Given the description of an element on the screen output the (x, y) to click on. 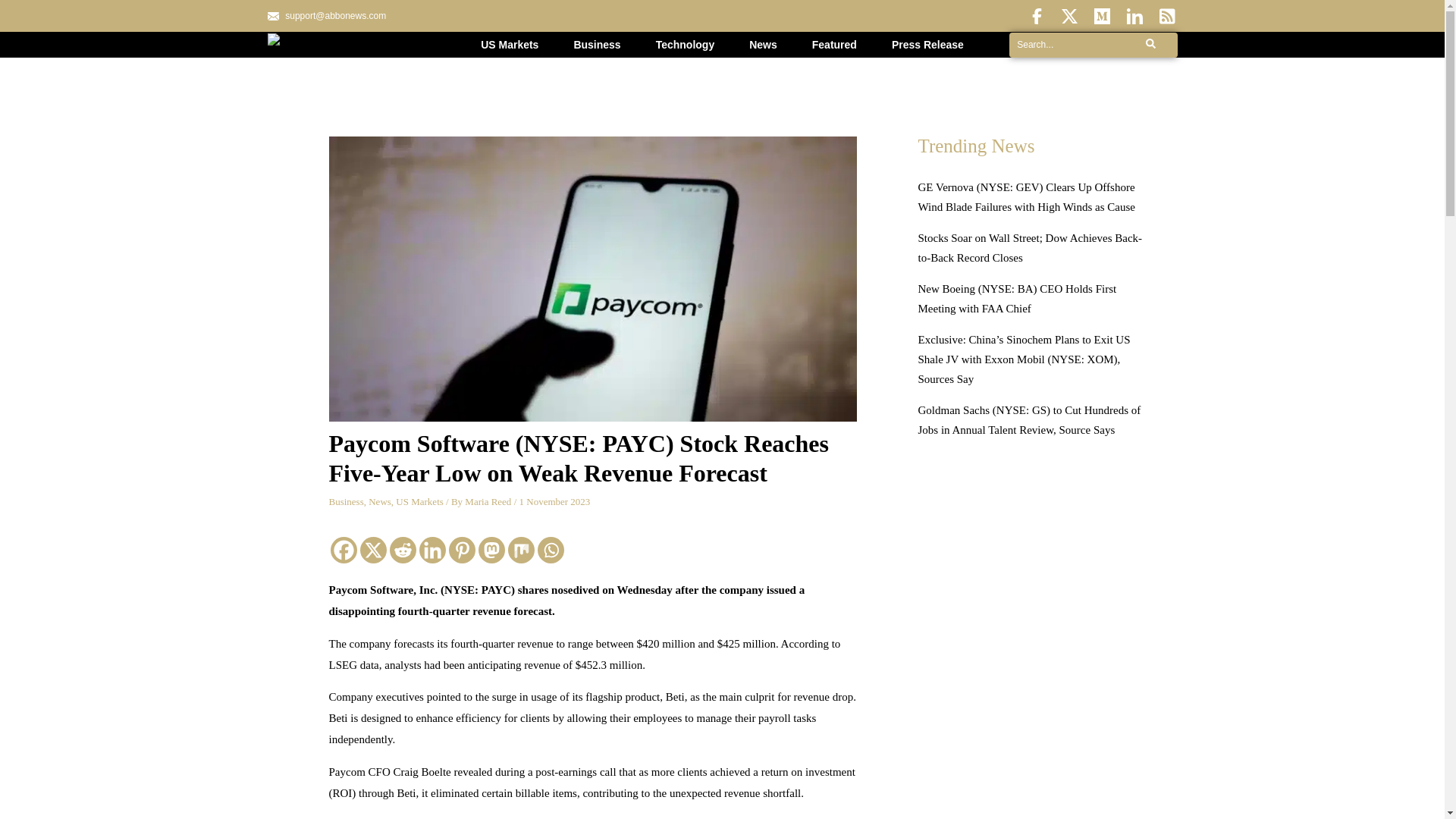
Business (346, 501)
US Markets (509, 44)
Mix (521, 550)
News (379, 501)
Pinterest (462, 550)
X (372, 550)
View all posts by Maria Reed (488, 501)
Facebook (343, 550)
Technology (685, 44)
